Given the description of an element on the screen output the (x, y) to click on. 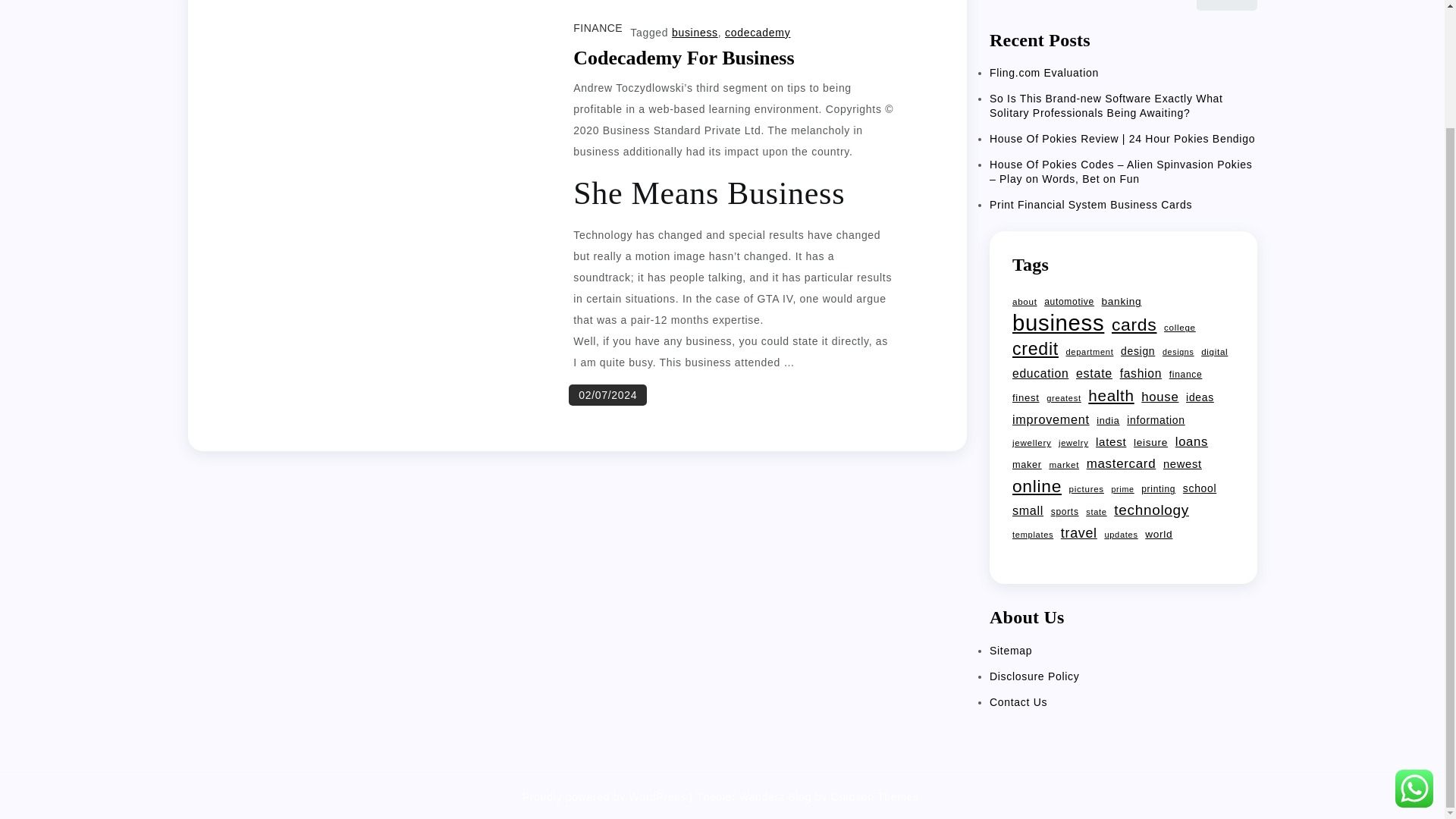
greatest (1063, 397)
Codecademy For Business (683, 57)
design (1137, 350)
banking (1121, 301)
automotive (1068, 301)
fashion (1140, 373)
education (1039, 373)
college (1179, 327)
Fling.com Evaluation (1044, 72)
finance (1185, 373)
business (694, 32)
digital (1214, 351)
designs (1177, 351)
cards (1134, 323)
